Given the description of an element on the screen output the (x, y) to click on. 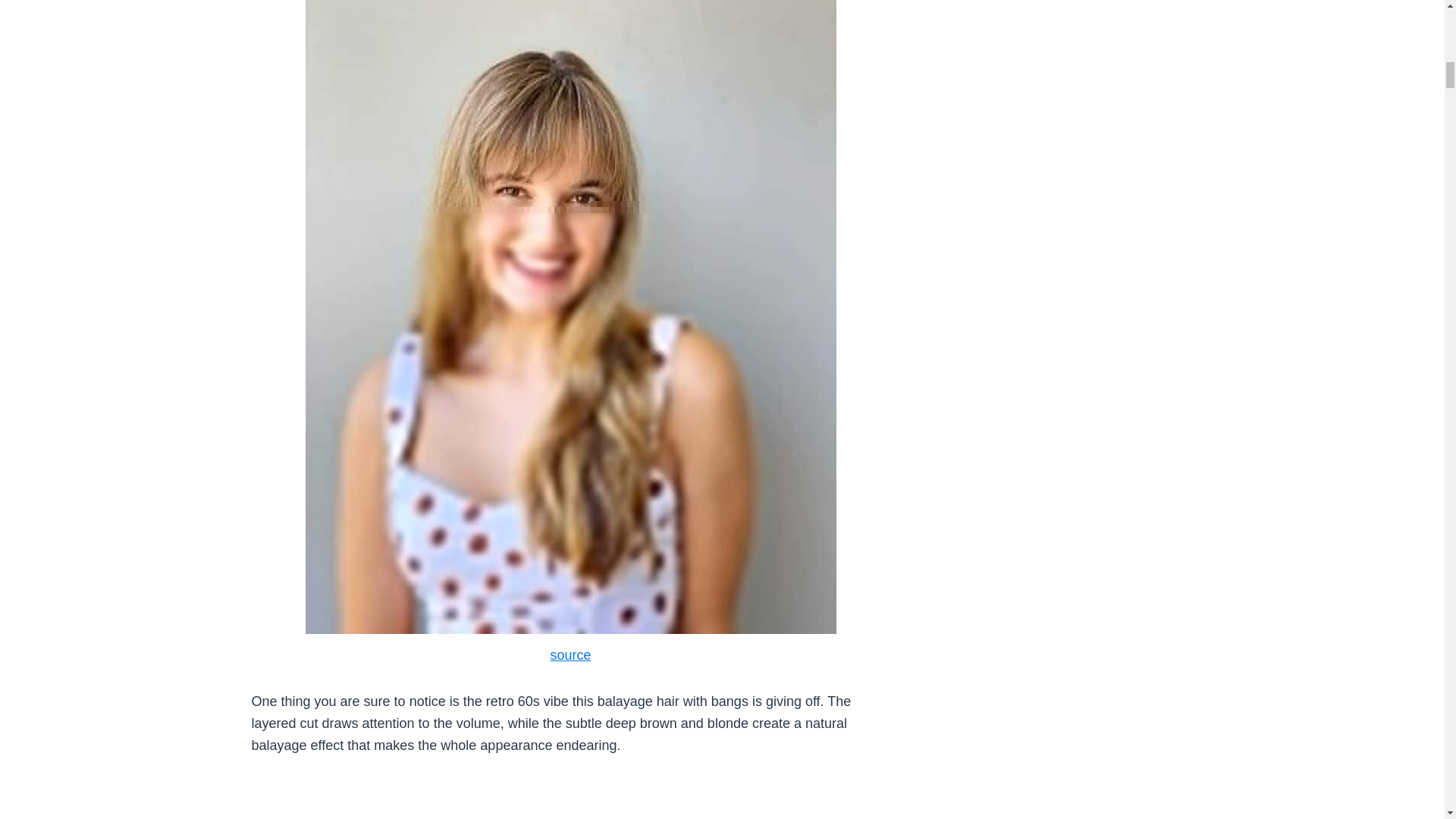
source (570, 654)
